Given the description of an element on the screen output the (x, y) to click on. 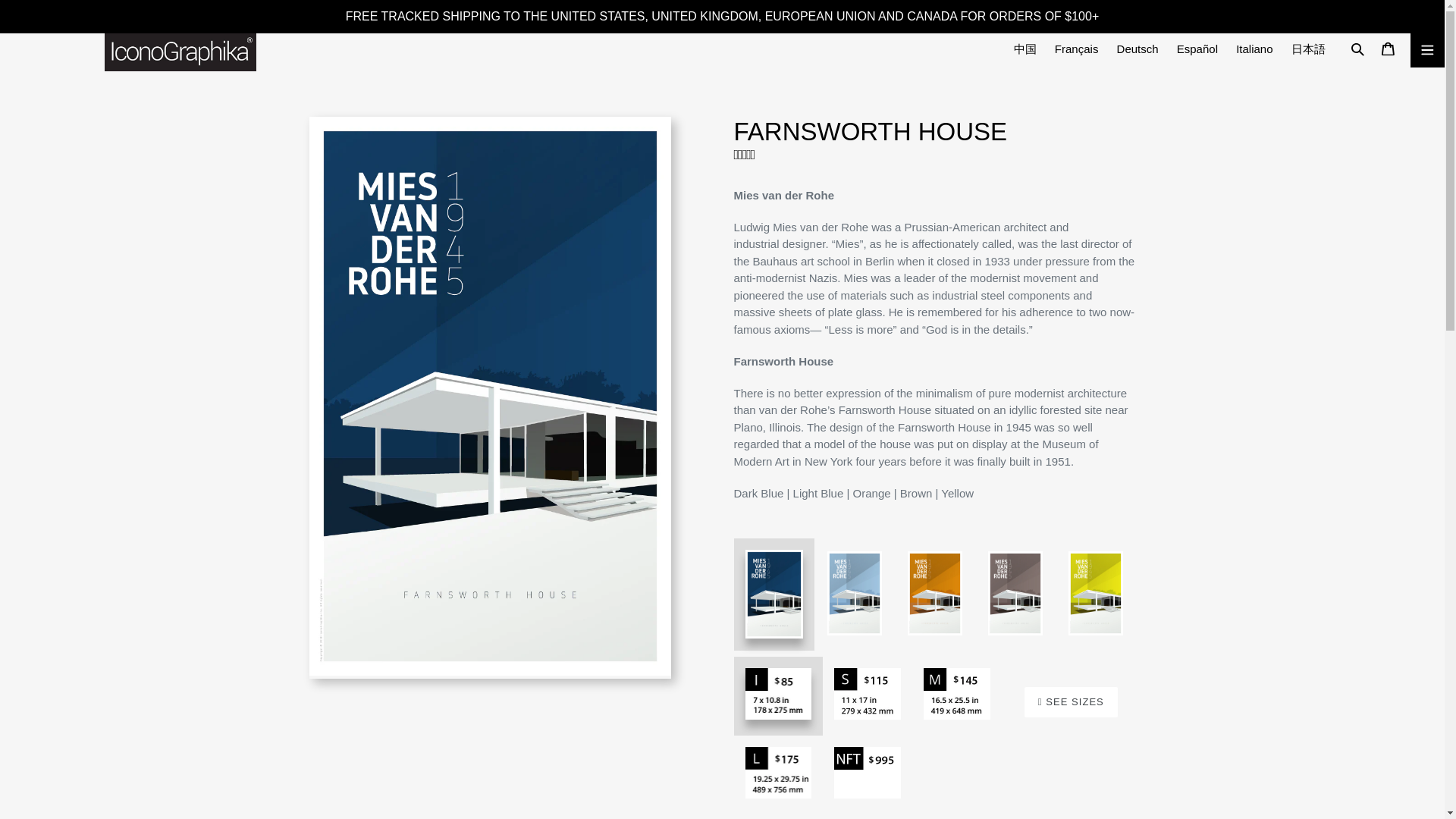
Submit (1357, 49)
Italiano (1253, 49)
Cart (1389, 50)
Deutsch (1137, 49)
